Given the description of an element on the screen output the (x, y) to click on. 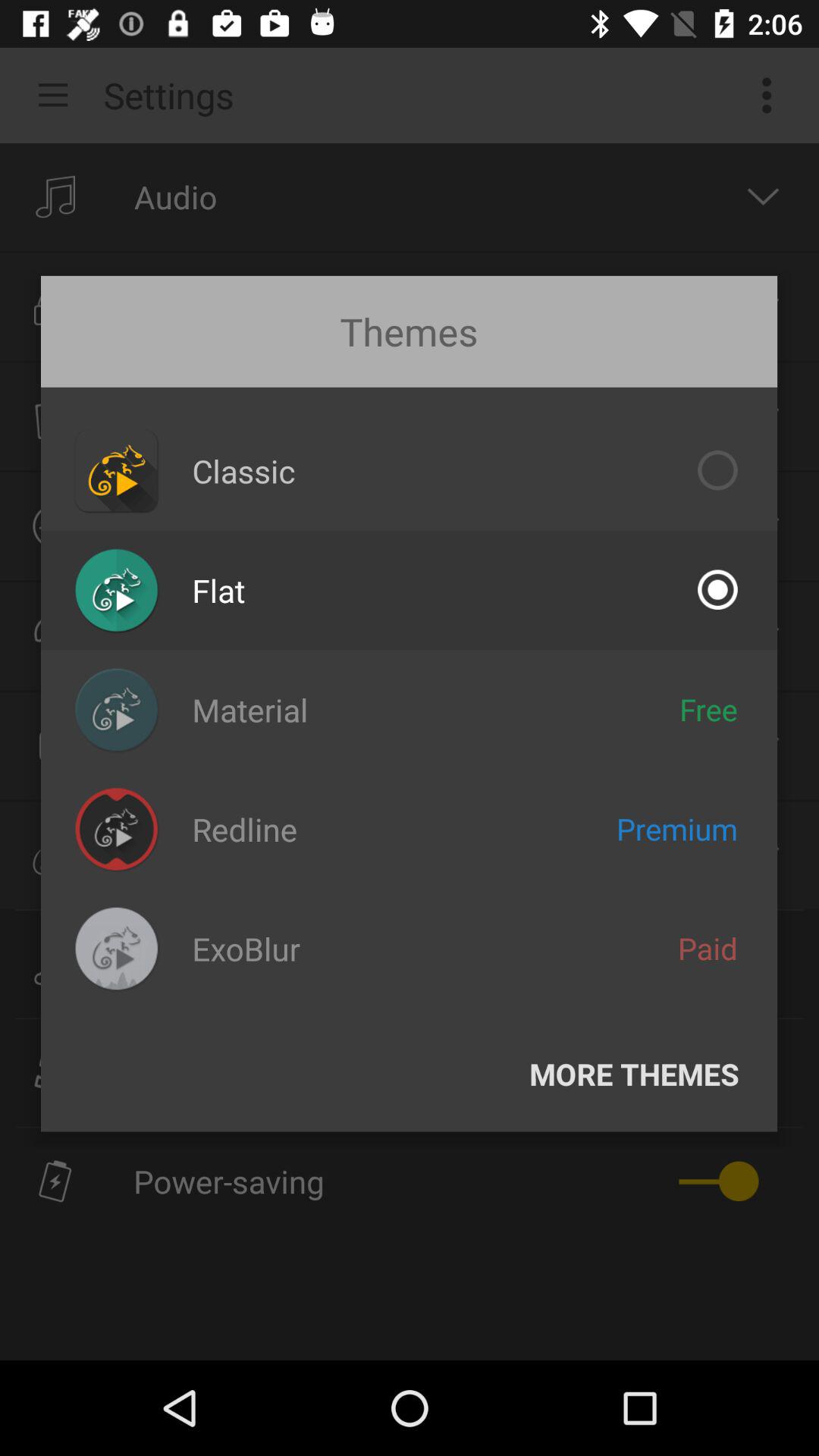
select the item above the paid (677, 828)
